Given the description of an element on the screen output the (x, y) to click on. 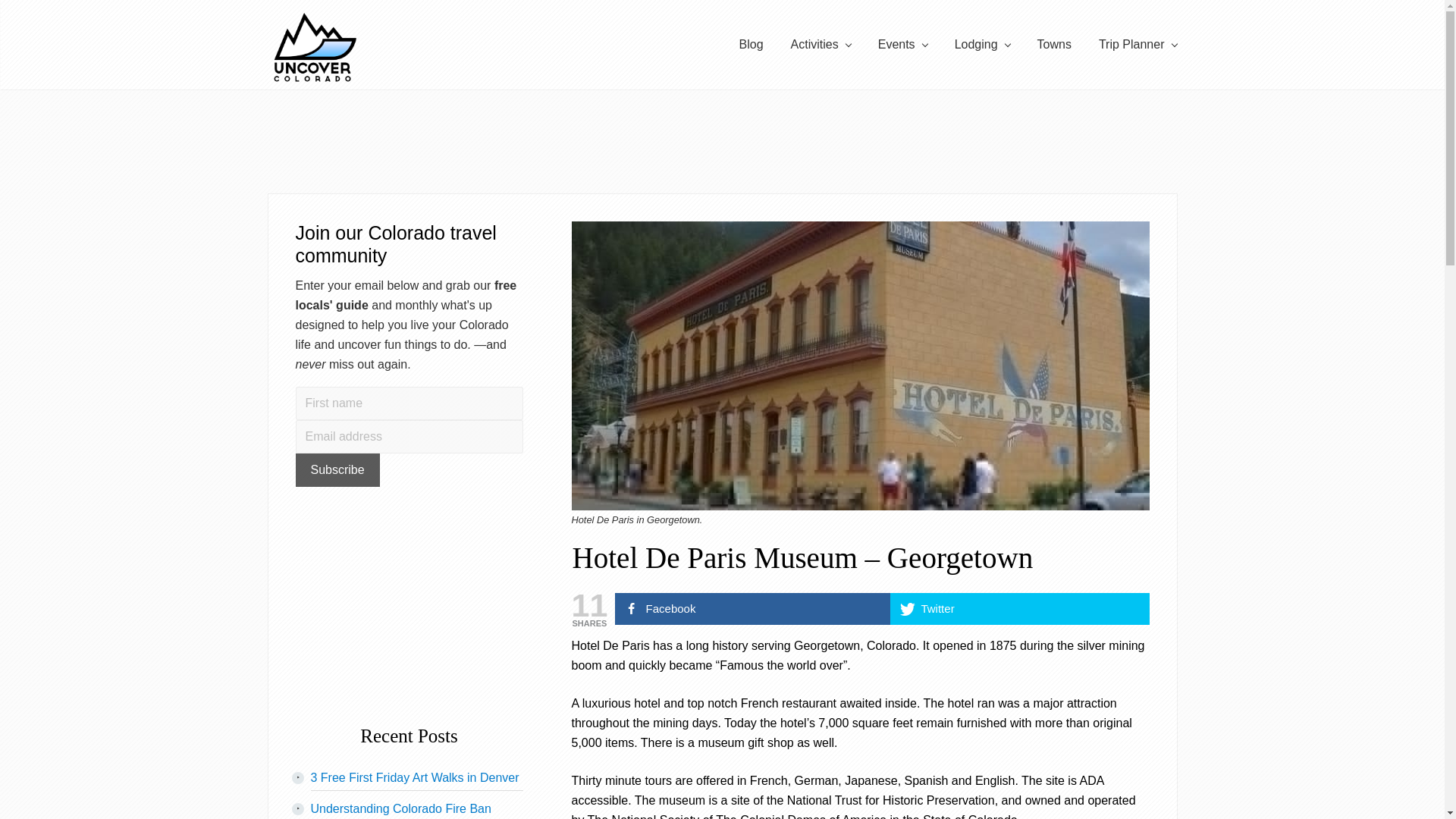
Subscribe (337, 469)
Colorado Travel Blog (751, 44)
Activities (820, 44)
Colorado Trip Ideas (1137, 44)
Blog (751, 44)
